Given the description of an element on the screen output the (x, y) to click on. 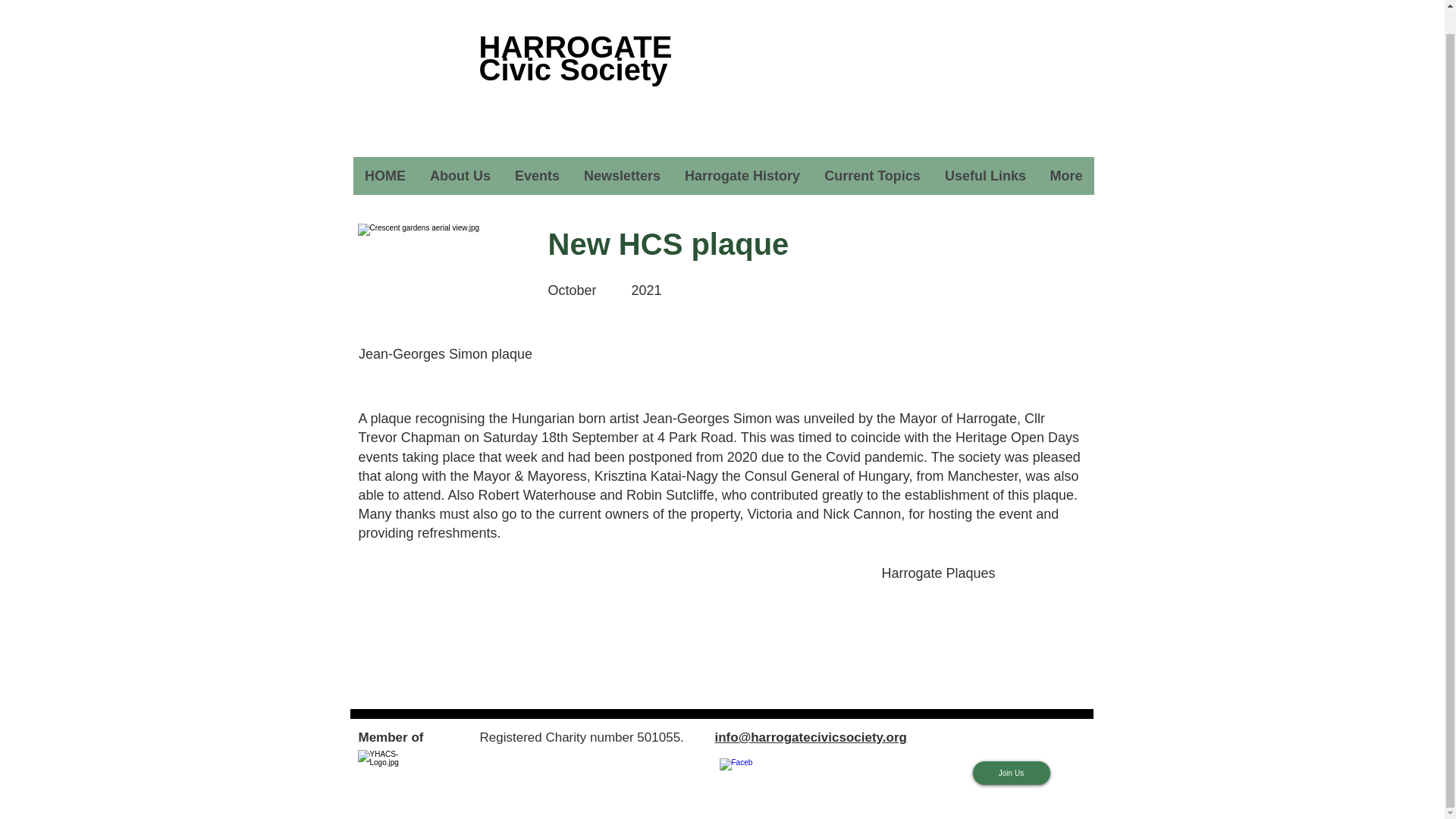
HOME (385, 175)
Plq88 A Jean-George Simon.jpg (446, 281)
Join Us (1010, 772)
Events (536, 175)
Useful Links (985, 175)
Harrogate History (740, 175)
Current Topics (870, 175)
Newsletters (622, 175)
About Us (459, 175)
